Given the description of an element on the screen output the (x, y) to click on. 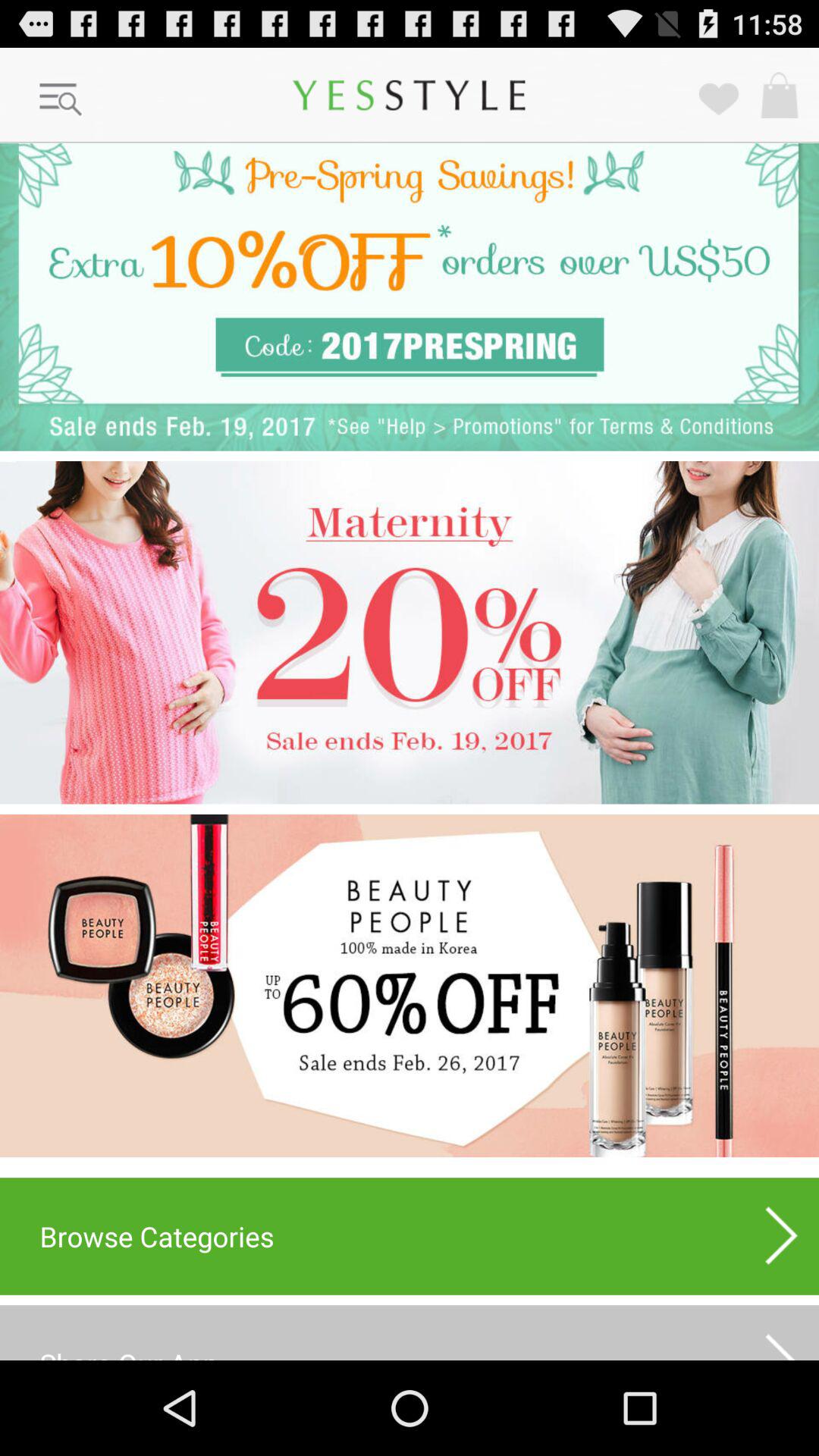
get coupon (409, 297)
